Given the description of an element on the screen output the (x, y) to click on. 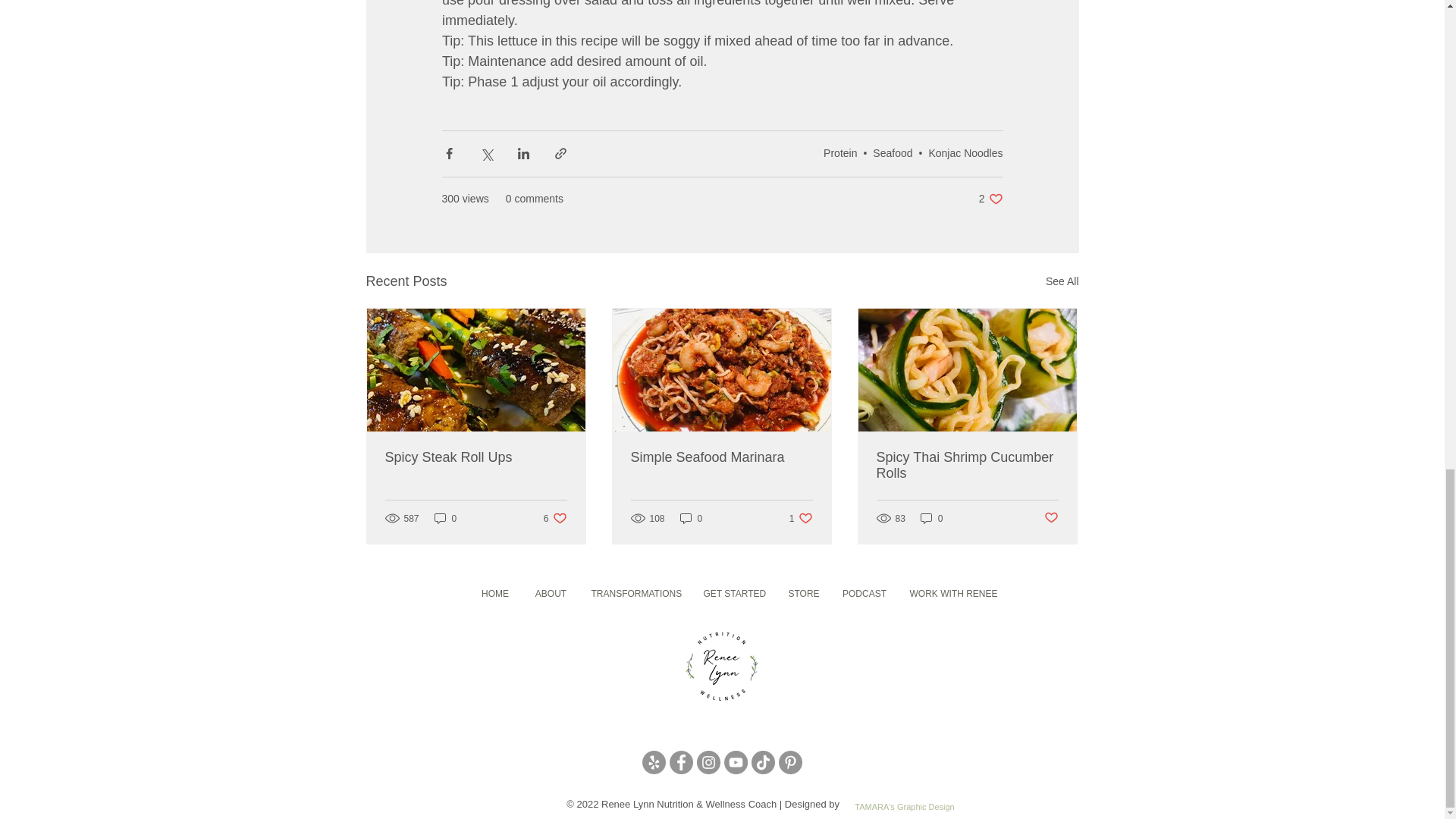
0 (800, 518)
Post not marked as liked (691, 518)
Spicy Thai Shrimp Cucumber Rolls (1050, 518)
See All (967, 465)
Protein (1061, 281)
Seafood (840, 152)
Konjac Noodles (892, 152)
Spicy Steak Roll Ups (990, 198)
